Given the description of an element on the screen output the (x, y) to click on. 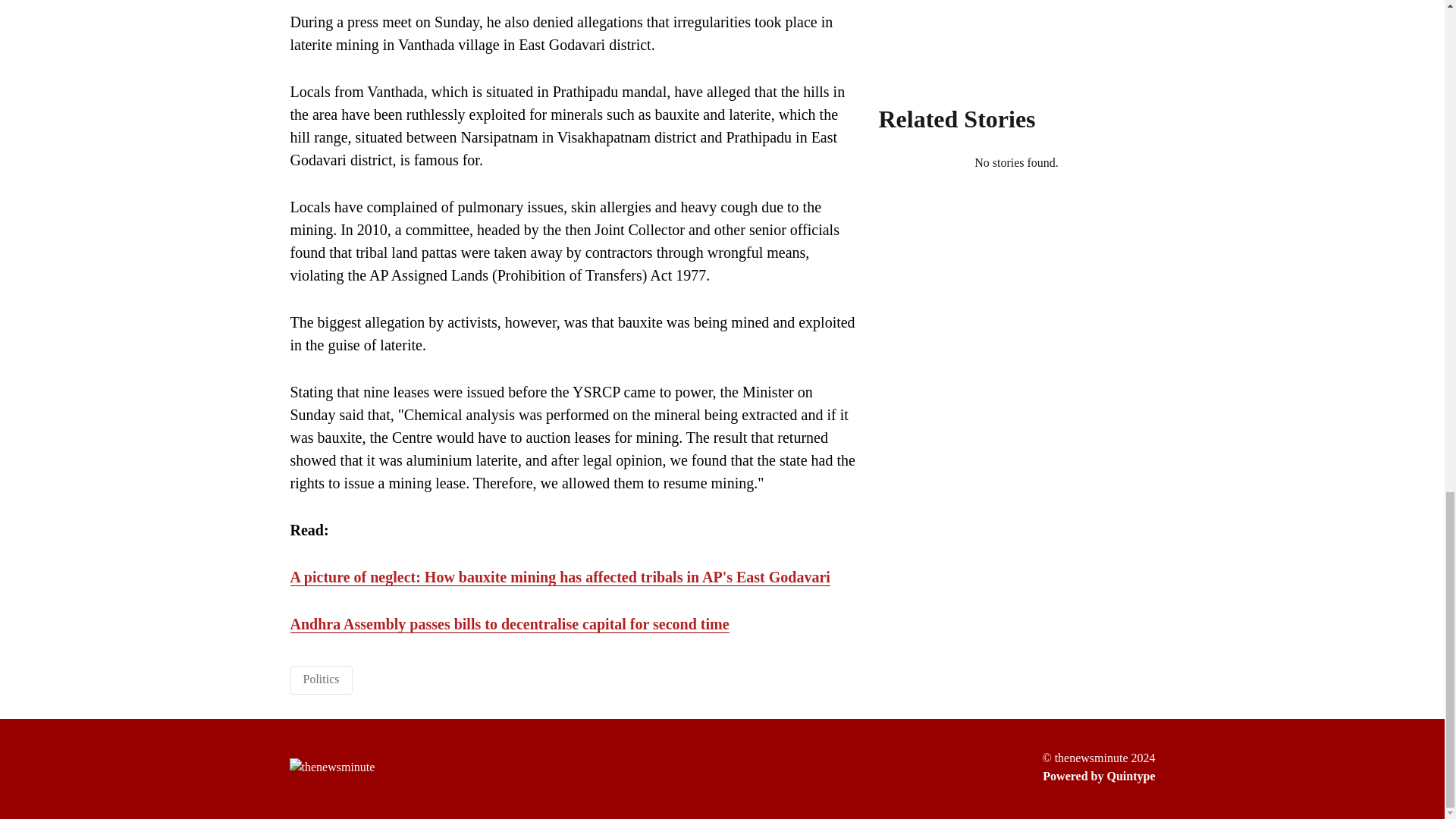
Powered by Quintype (1098, 776)
Politics (320, 678)
